Given the description of an element on the screen output the (x, y) to click on. 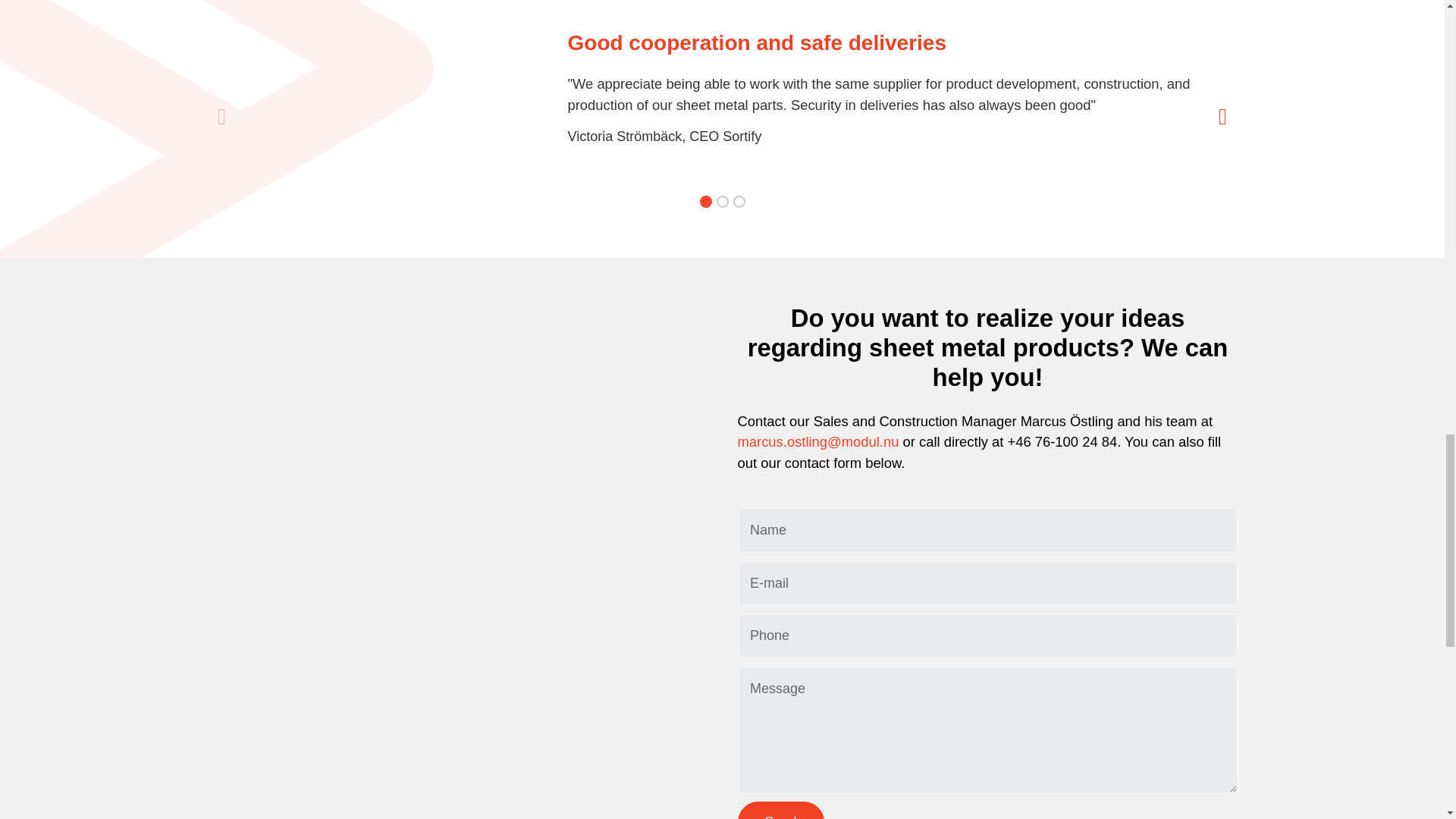
Send (780, 810)
